Given the description of an element on the screen output the (x, y) to click on. 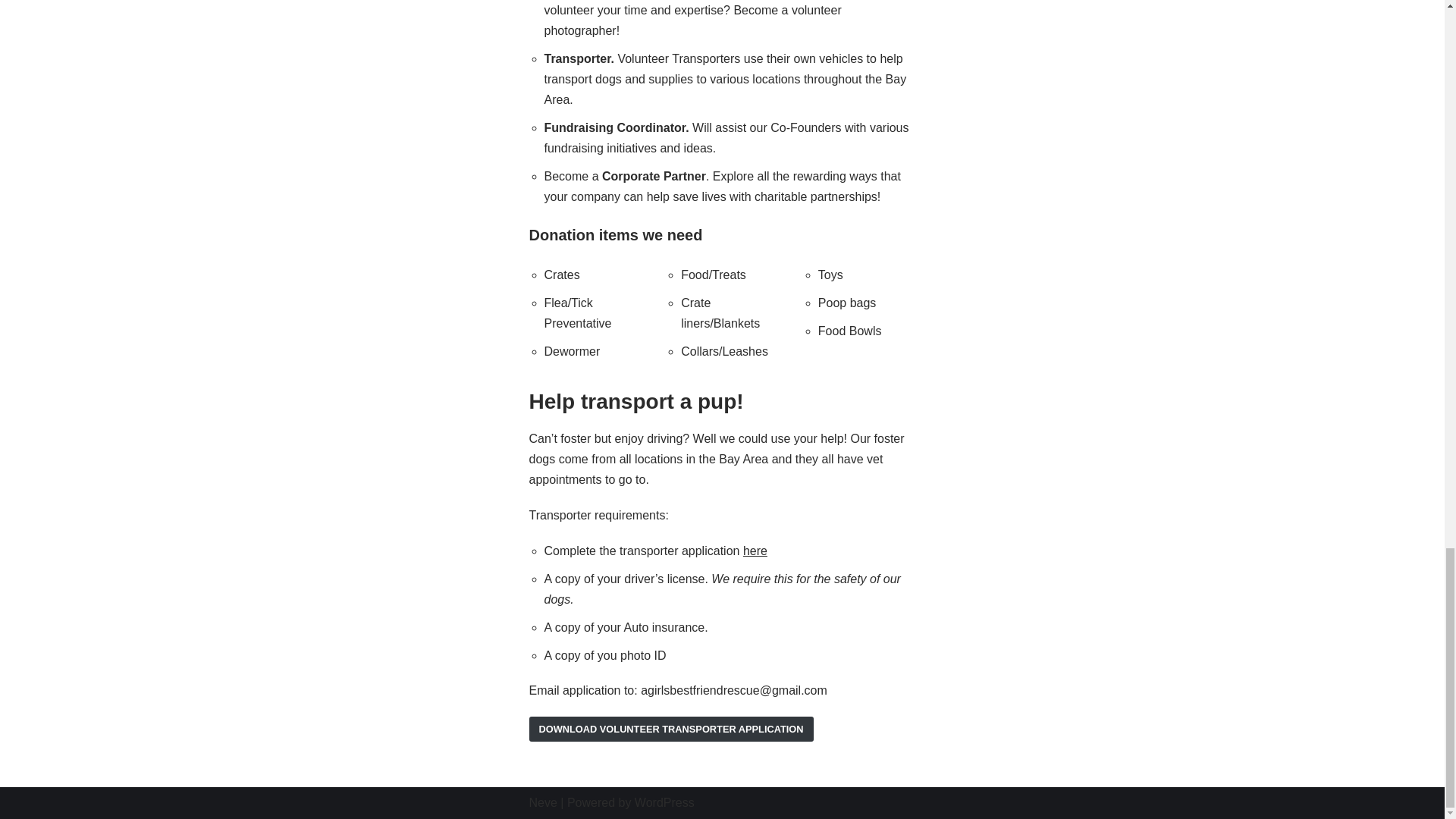
here (754, 550)
Neve (543, 802)
WordPress (664, 802)
DOWNLOAD VOLUNTEER TRANSPORTER APPLICATION (671, 729)
